Given the description of an element on the screen output the (x, y) to click on. 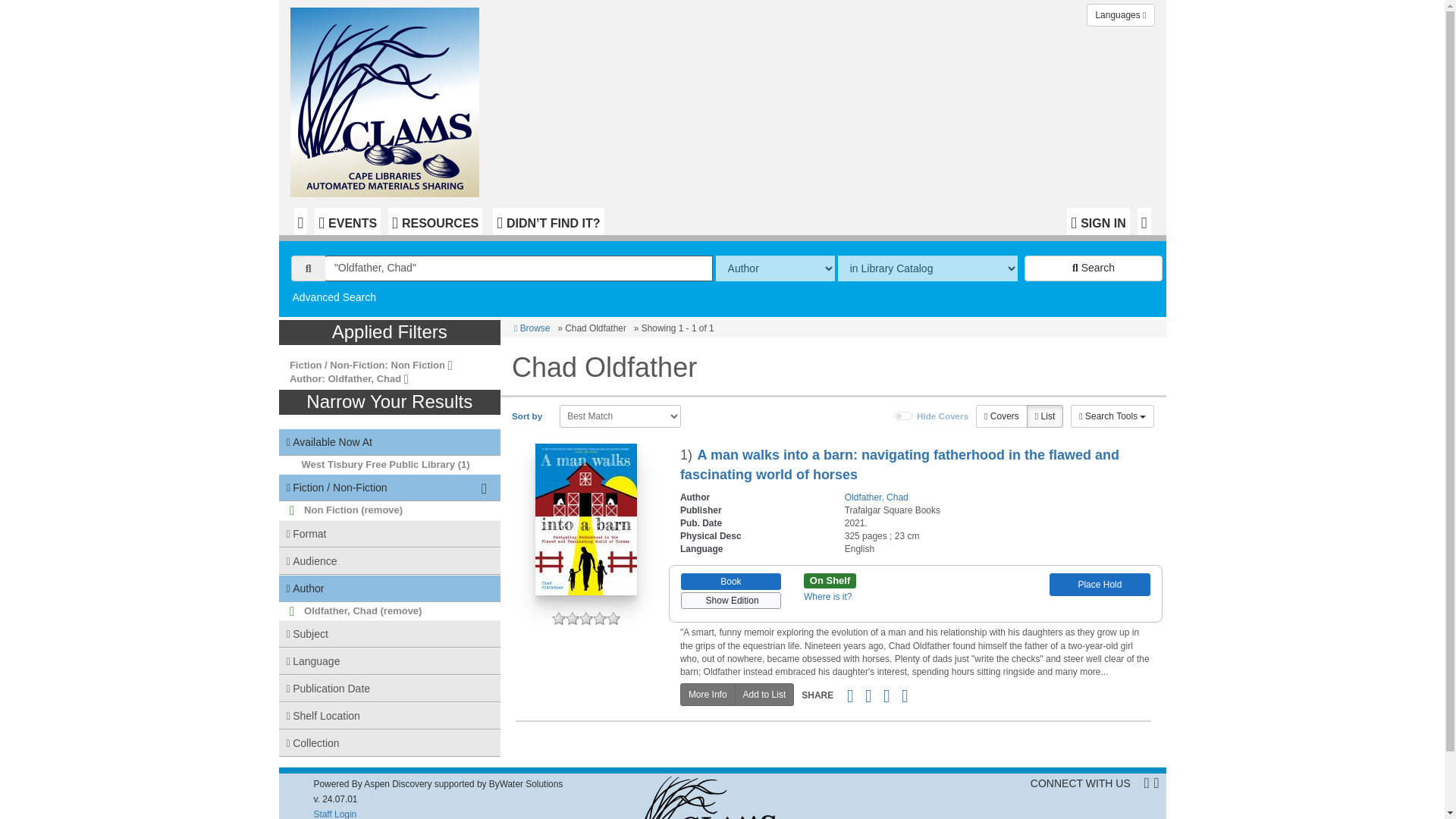
Login (1098, 221)
Languages  (1120, 15)
Show Menu (1144, 221)
Browse the Catalog (300, 221)
on (903, 415)
RESOURCES (434, 221)
EVENTS (347, 221)
"Oldfather, Chad" (518, 268)
 Search (1093, 268)
Return to Catalog Home (387, 98)
West Tisbury Free Public Library (378, 464)
Advanced Search (334, 297)
SIGN IN (1098, 221)
The method of searching. (775, 268)
